Given the description of an element on the screen output the (x, y) to click on. 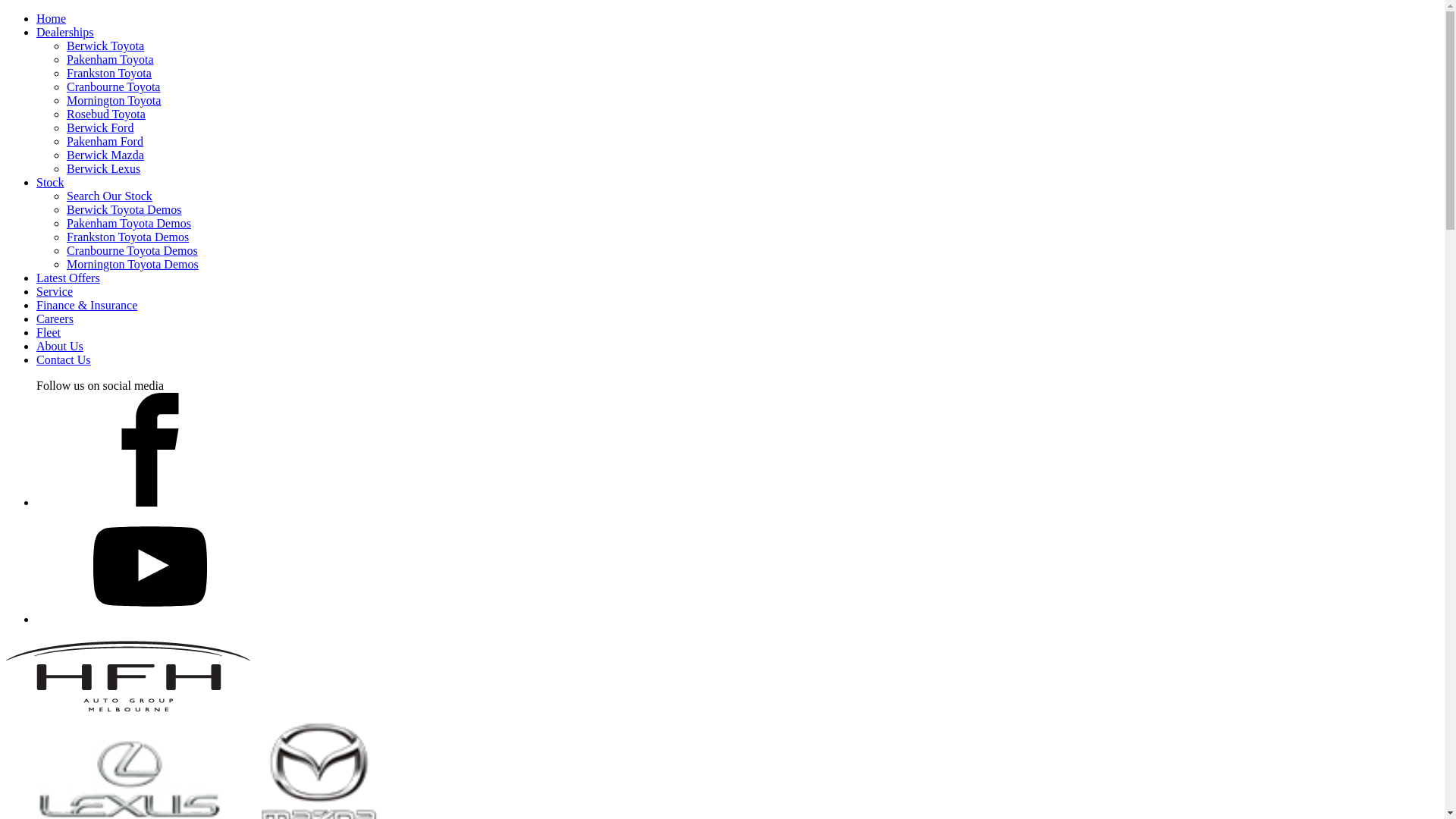
Careers Element type: text (54, 318)
Fleet Element type: text (48, 332)
Search Our Stock Element type: text (109, 195)
Frankston Toyota Element type: text (108, 72)
Frankston Toyota Demos Element type: text (127, 236)
Berwick Mazda Element type: text (105, 154)
Stock Element type: text (49, 181)
Home Element type: text (50, 18)
Dealerships Element type: text (65, 31)
Pakenham Ford Element type: text (104, 140)
Cranbourne Toyota Element type: text (113, 86)
Finance & Insurance Element type: text (86, 304)
Berwick Toyota Demos Element type: text (123, 209)
About Us Element type: text (59, 345)
Latest Offers Element type: text (68, 277)
Pakenham Toyota Element type: text (109, 59)
Pakenham Toyota Demos Element type: text (128, 222)
Berwick Lexus Element type: text (103, 168)
Berwick Toyota Element type: text (105, 45)
Contact Us Element type: text (63, 359)
Rosebud Toyota Element type: text (105, 113)
Berwick Ford Element type: text (99, 127)
Mornington Toyota Demos Element type: text (132, 263)
Service Element type: text (54, 291)
Cranbourne Toyota Demos Element type: text (131, 250)
Mornington Toyota Element type: text (113, 100)
